Given the description of an element on the screen output the (x, y) to click on. 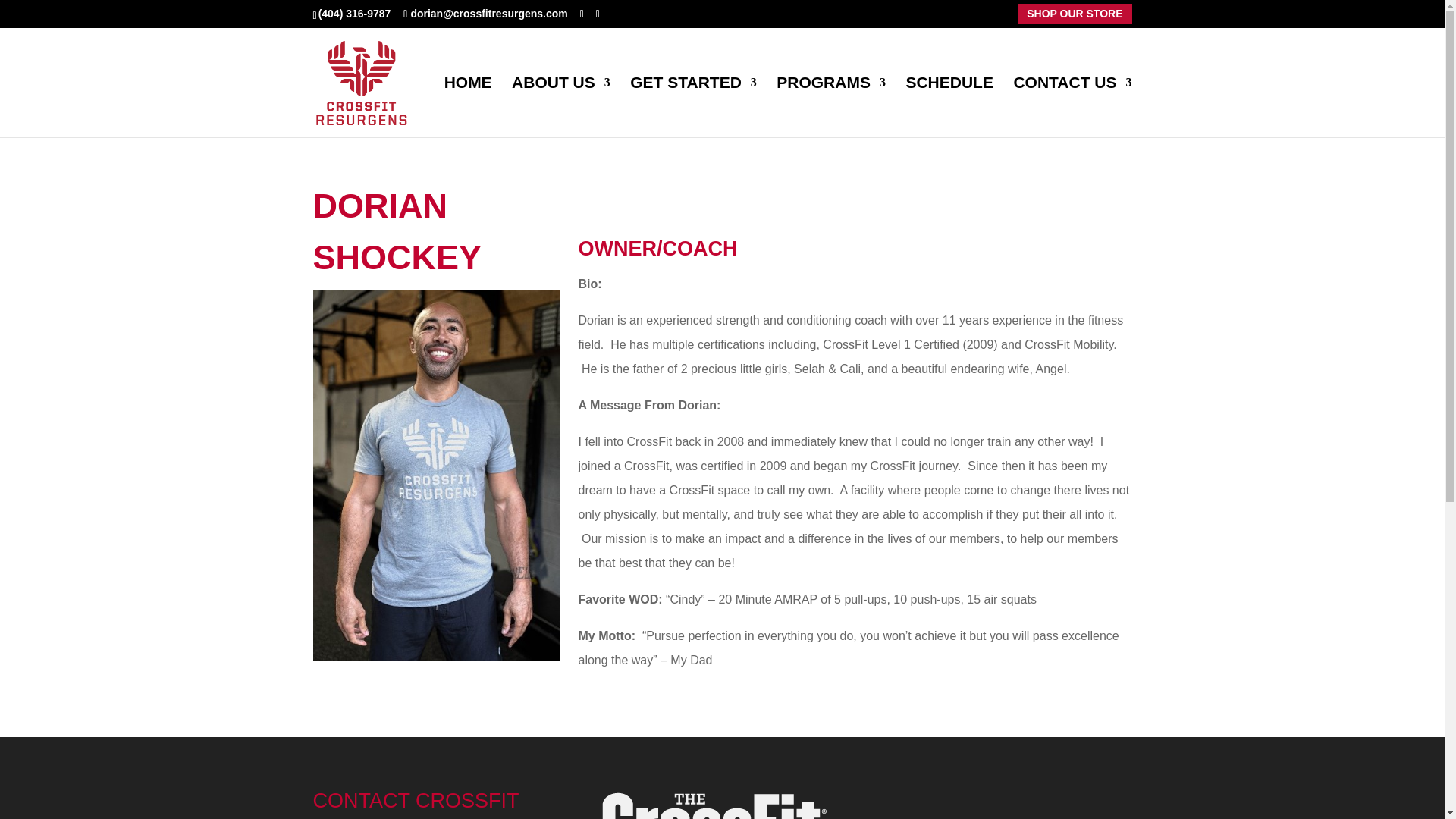
SCHEDULE (948, 106)
ABOUT US (561, 106)
GET STARTED (693, 106)
PROGRAMS (830, 106)
CONTACT US (1072, 106)
SHOP OUR STORE (1074, 12)
